Given the description of an element on the screen output the (x, y) to click on. 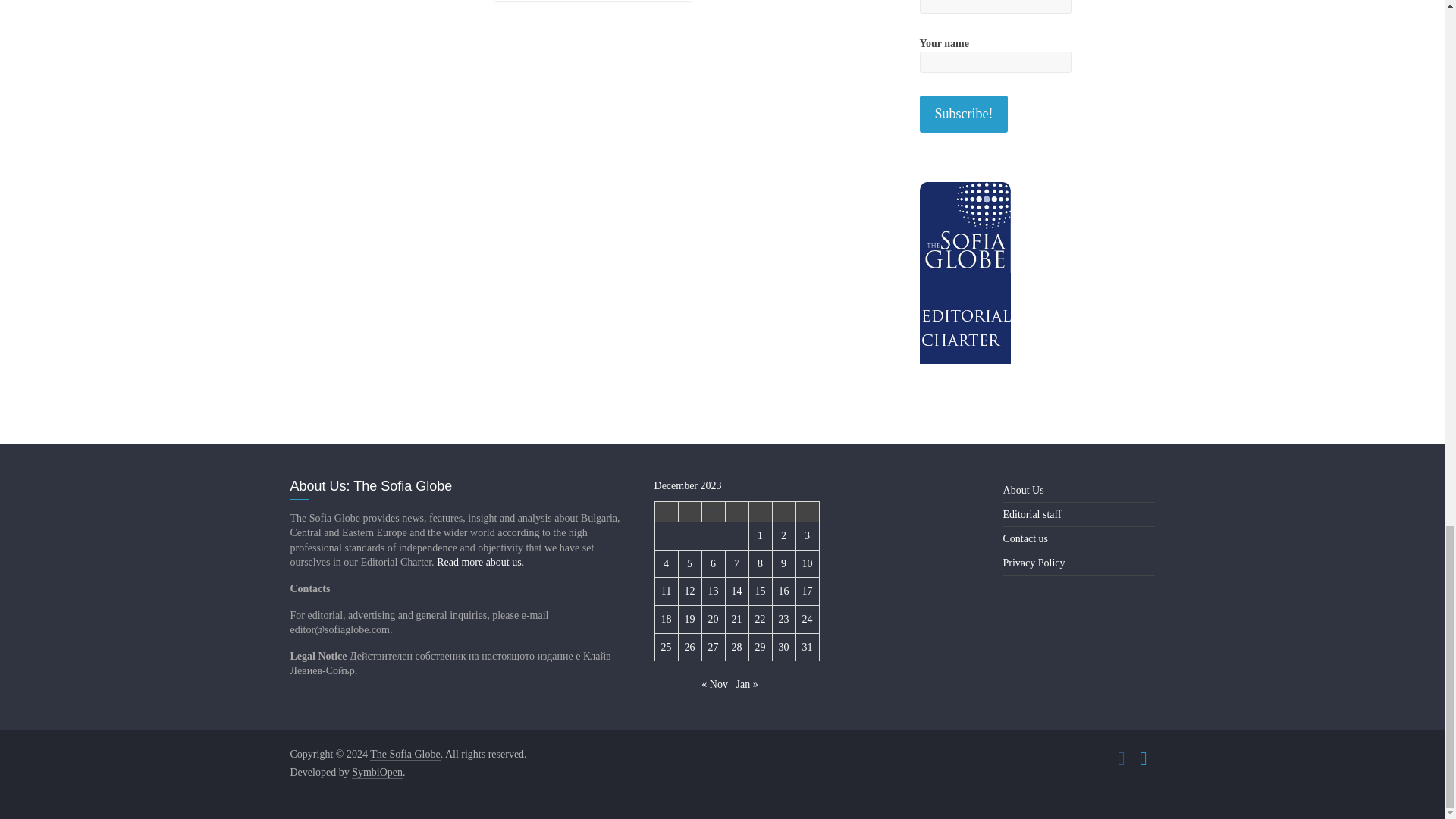
Subscribe! (962, 113)
